Given the description of an element on the screen output the (x, y) to click on. 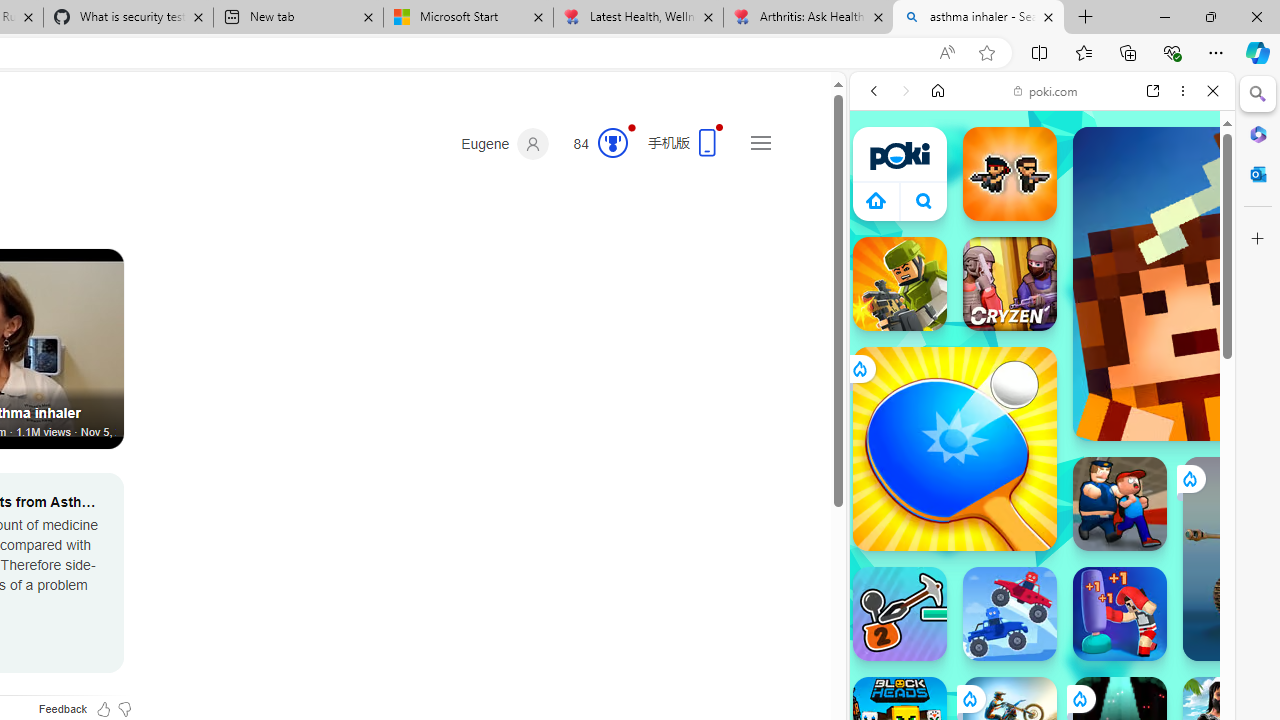
Escape From School Escape From School (1119, 503)
Show More Two Player Games (1164, 570)
Feedback Like (103, 709)
Class: rCs5cyEiqiTpYvt_VBCR (1079, 698)
Cryzen.io (1009, 283)
poki.com (1046, 90)
Kour.io (899, 283)
Cryzen.io Cryzen.io (1009, 283)
